Given the description of an element on the screen output the (x, y) to click on. 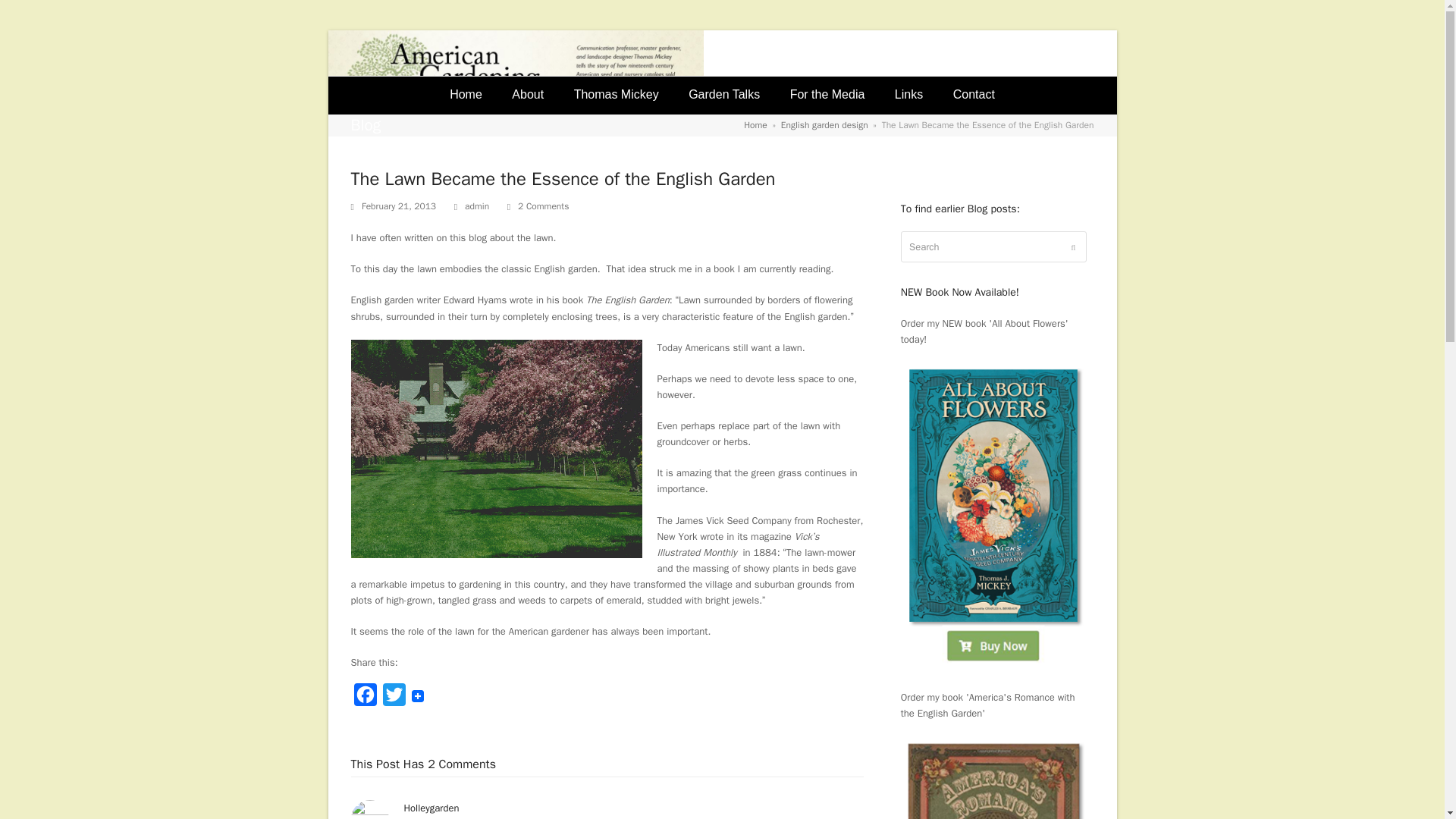
2 Comments (537, 206)
Contact (974, 95)
About (528, 95)
Twitter (392, 697)
Home (465, 95)
Links (908, 95)
Posts by admin (476, 205)
English garden design (823, 124)
Thomas Mickey (616, 95)
admin (476, 205)
Holleygarden (430, 807)
February 22, 2013 at 3:09 pm (464, 817)
For the Media (826, 95)
Garden Talks (724, 95)
Home (755, 124)
